Given the description of an element on the screen output the (x, y) to click on. 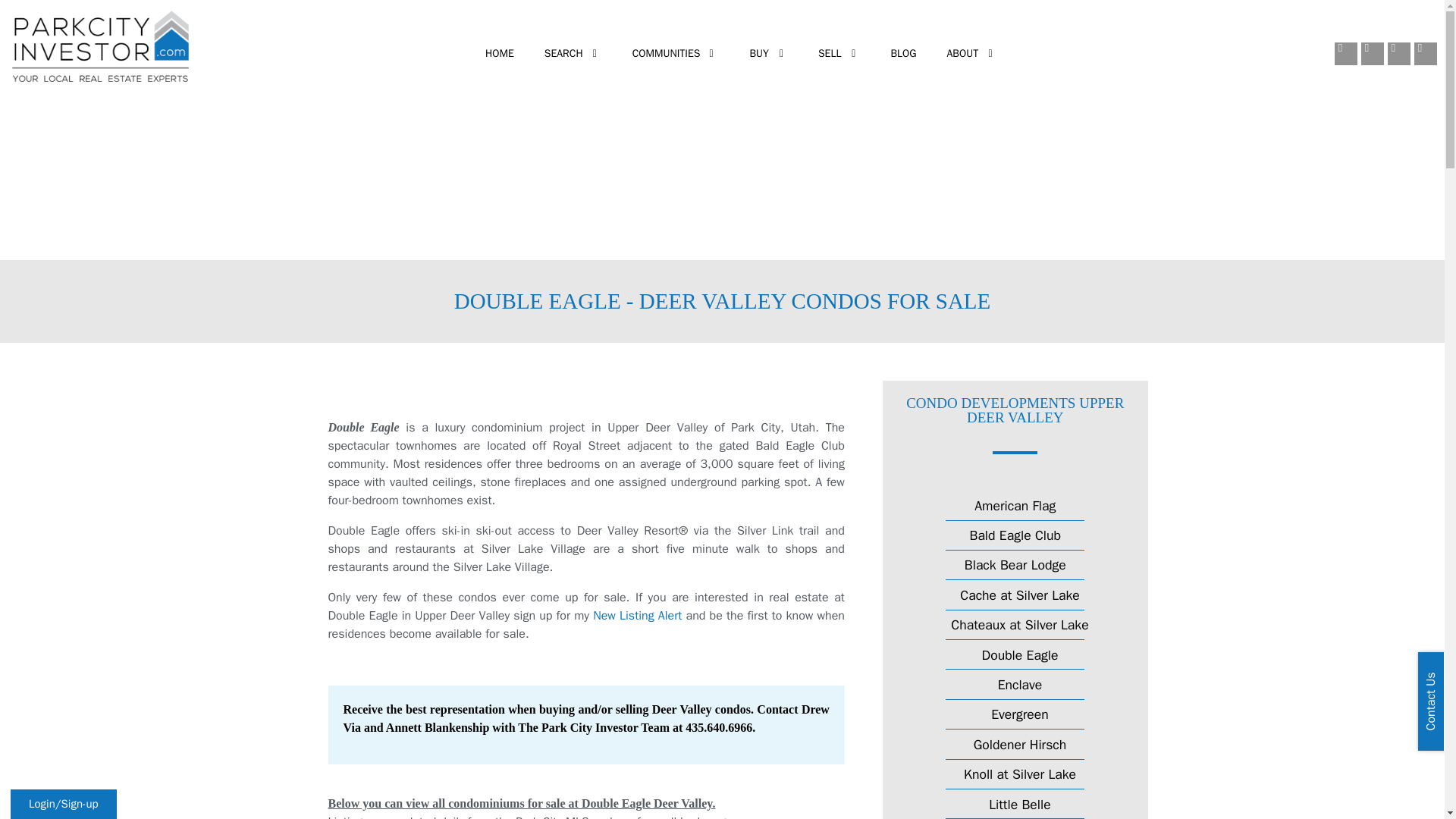
COMMUNITIES (667, 53)
SEARCH (566, 53)
HOME (498, 53)
BUY (761, 53)
